Given the description of an element on the screen output the (x, y) to click on. 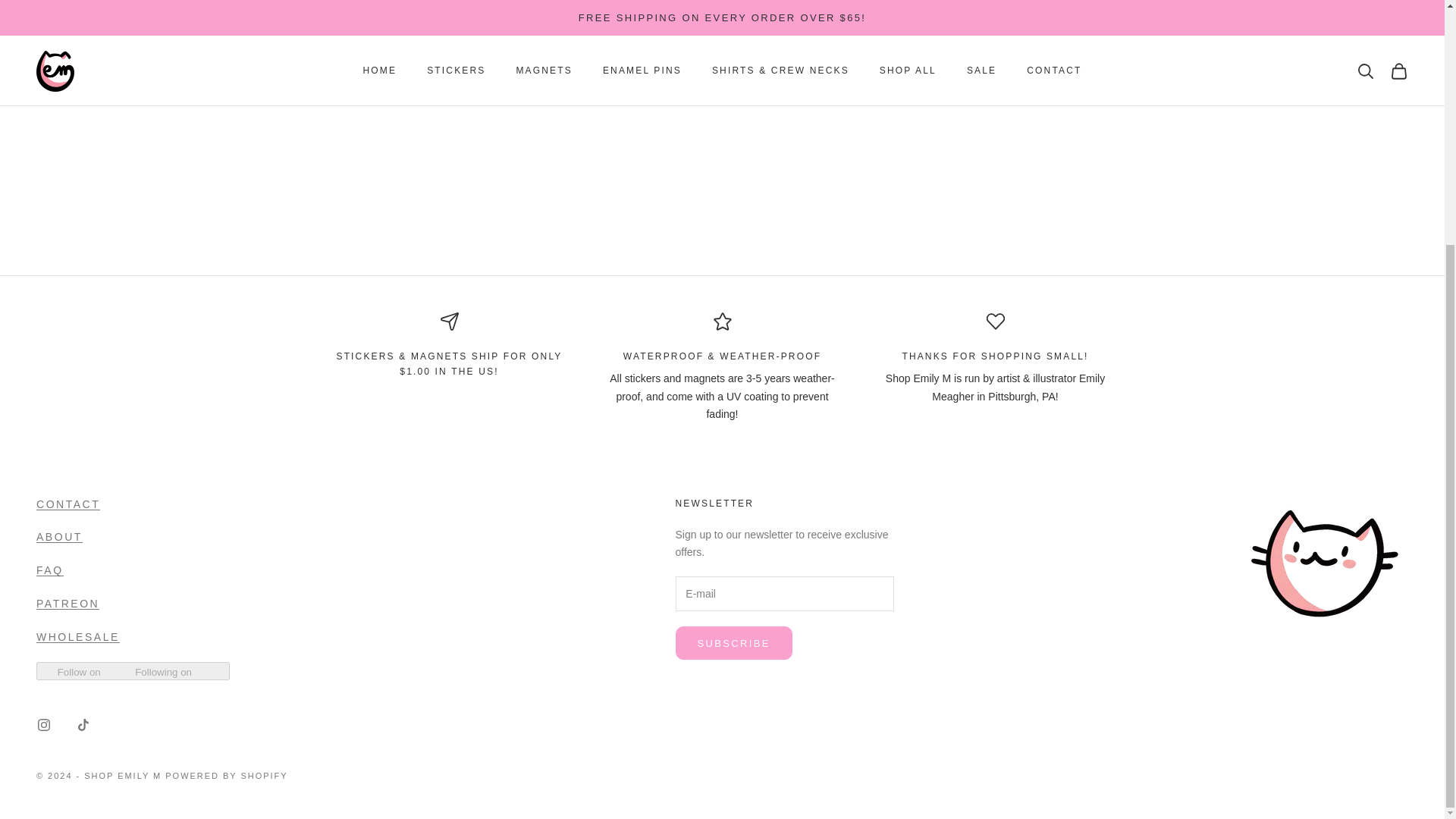
CONTINUE SHOPPING (721, 68)
About (59, 536)
Contact (68, 503)
PATREON (67, 603)
ABOUT (59, 536)
FAQ (50, 570)
WHOLESALE (77, 636)
FAQ (50, 570)
CONTACT (68, 503)
